Given the description of an element on the screen output the (x, y) to click on. 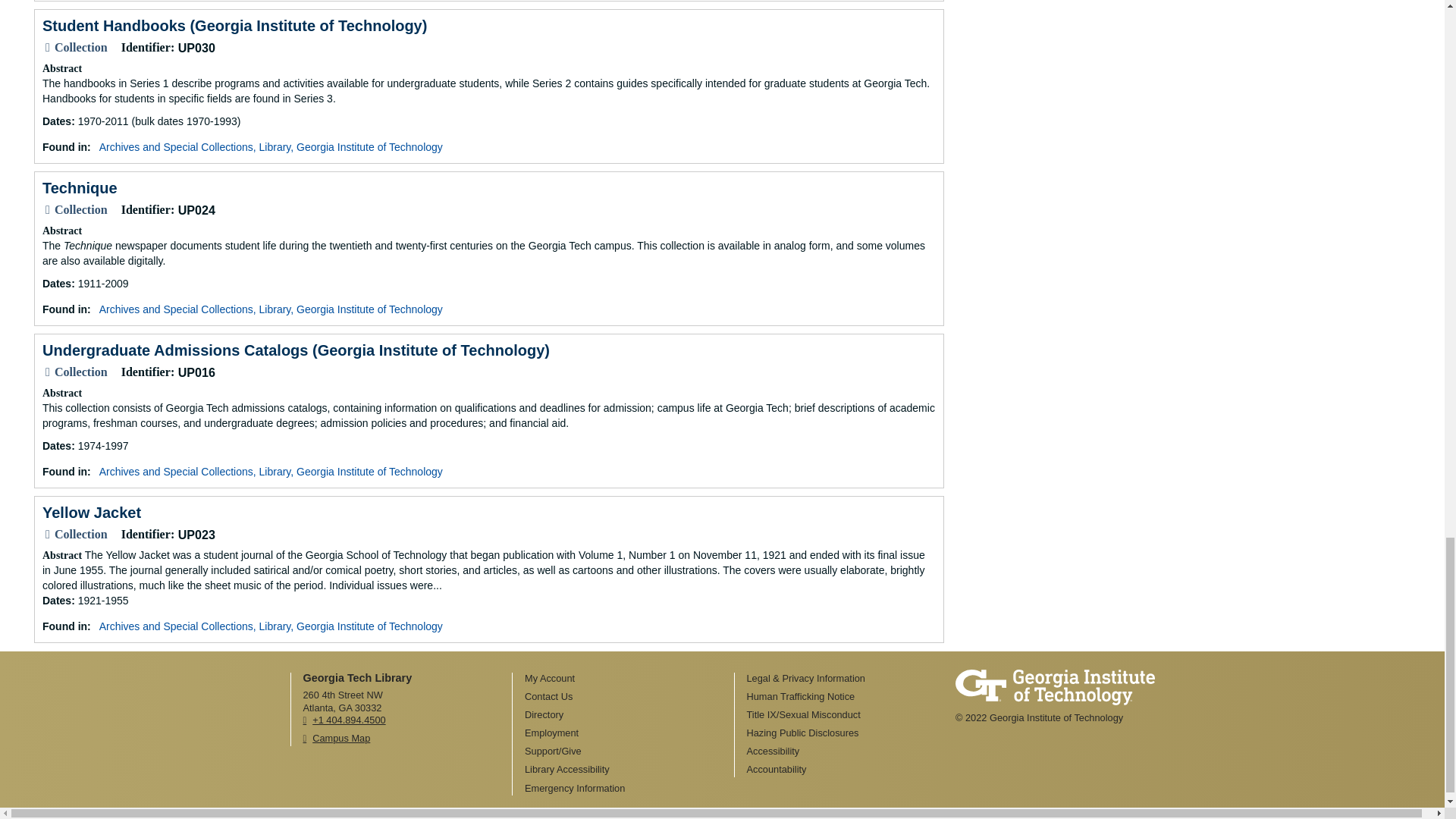
translation missing: en.dates (56, 600)
translation missing: en.dates (56, 283)
Technique (79, 187)
translation missing: en.dates (56, 445)
translation missing: en.dates (56, 121)
